Given the description of an element on the screen output the (x, y) to click on. 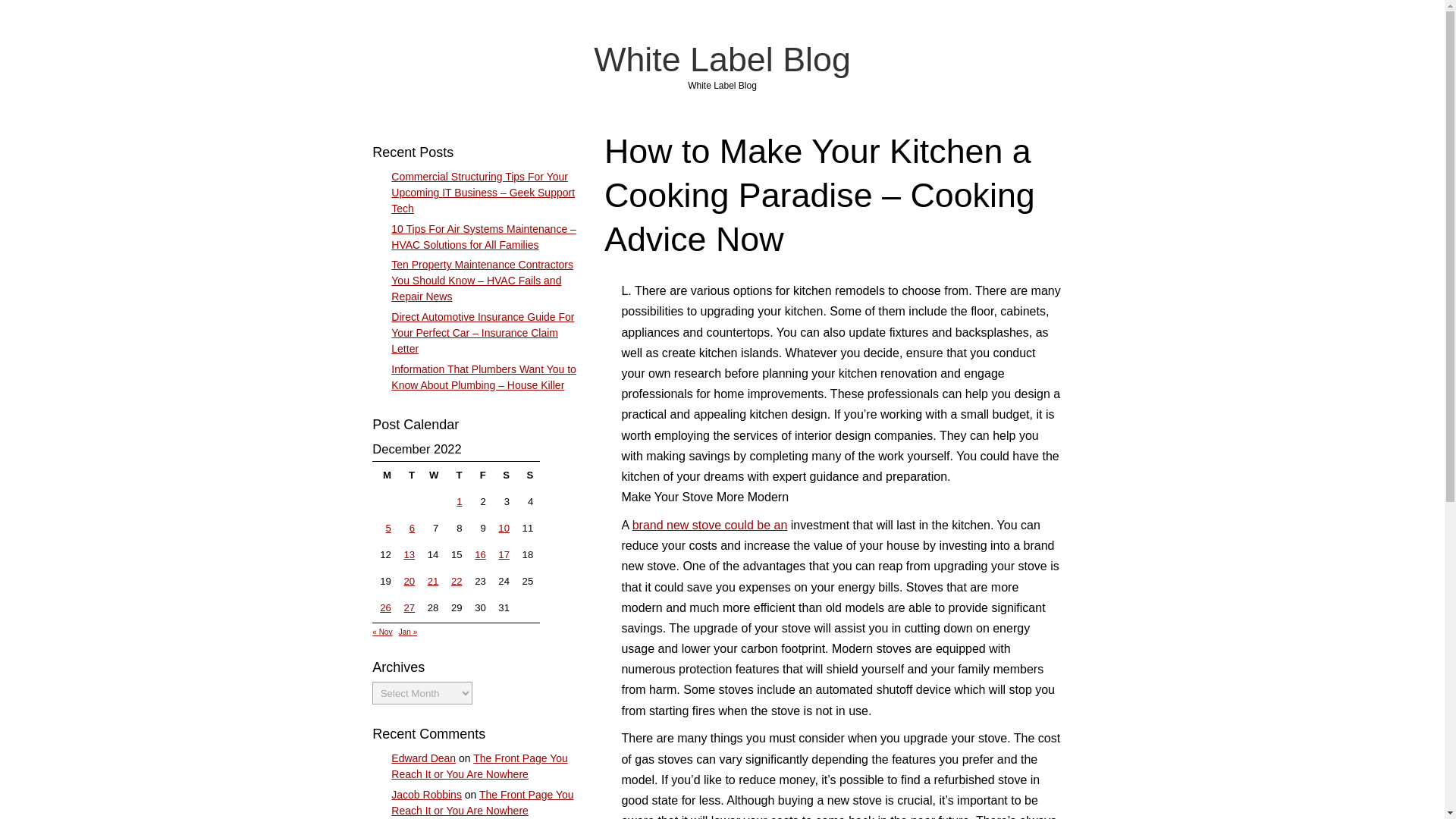
26 (385, 607)
brand new stove could be an (709, 524)
22 (457, 581)
White Label Blog (722, 58)
The Front Page You Reach It or You Are Nowhere (479, 766)
Jacob Robbins (426, 794)
16 (480, 554)
17 (503, 554)
10 (503, 527)
13 (408, 554)
27 (408, 607)
Edward Dean (423, 758)
21 (433, 581)
20 (408, 581)
The Front Page You Reach It or You Are Nowhere (482, 802)
